Given the description of an element on the screen output the (x, y) to click on. 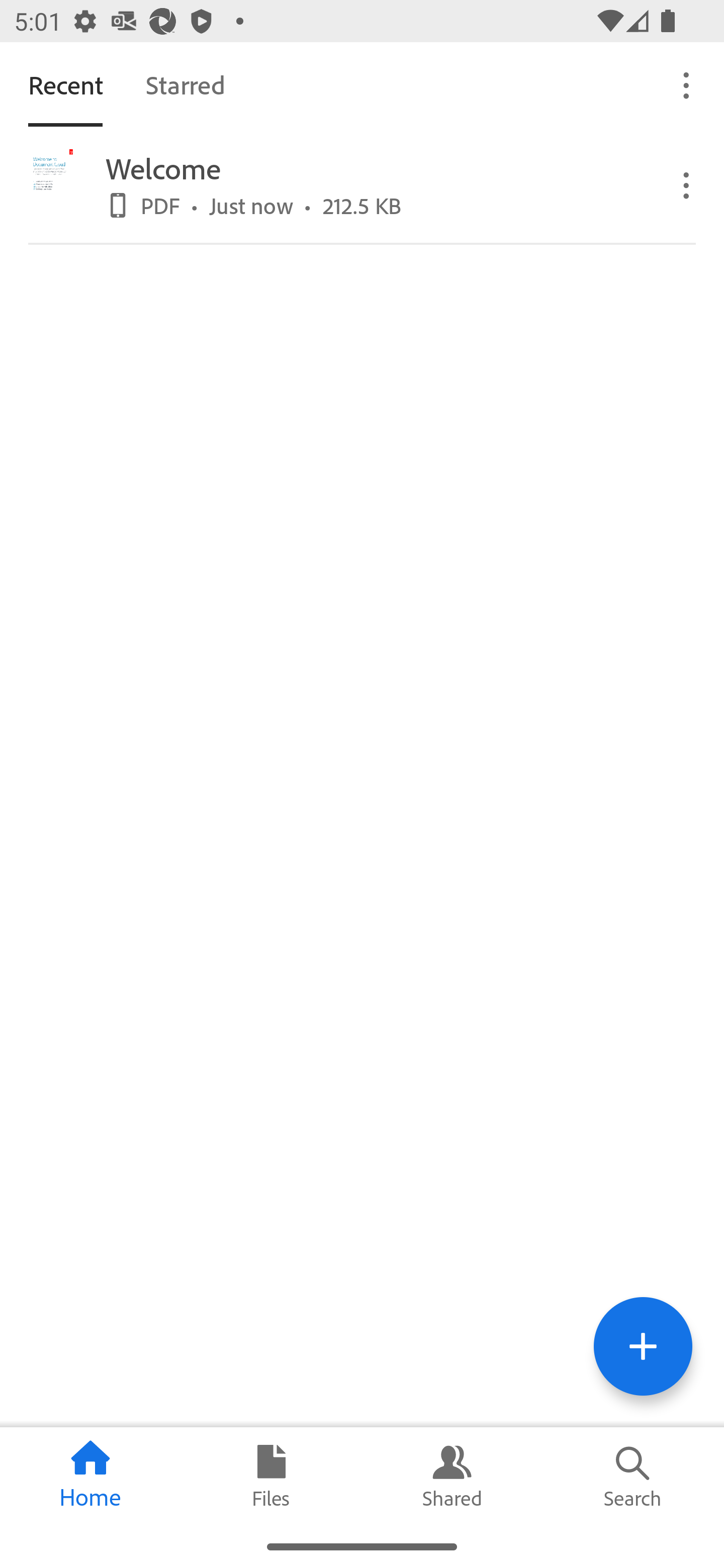
Recent (65, 84)
Starred (185, 84)
Overflow (687, 84)
Overflow (687, 184)
Tools (642, 1345)
Home (90, 1475)
Files (271, 1475)
Shared (452, 1475)
Search (633, 1475)
